Given the description of an element on the screen output the (x, y) to click on. 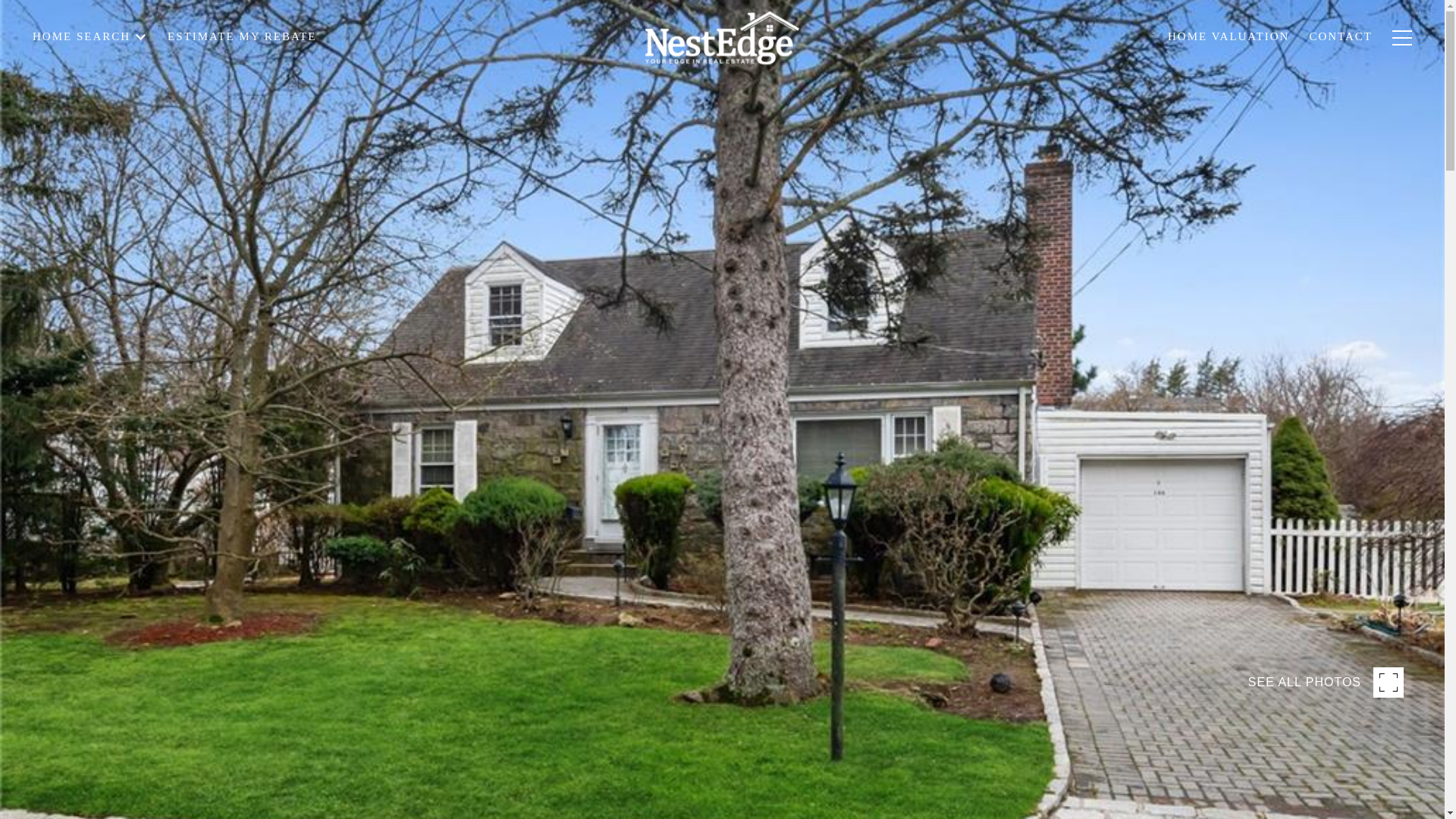
CONTACT (1339, 51)
HOME SEARCH (90, 79)
HOME VALUATION (1227, 52)
ESTIMATE MY REBATE (241, 57)
